Given the description of an element on the screen output the (x, y) to click on. 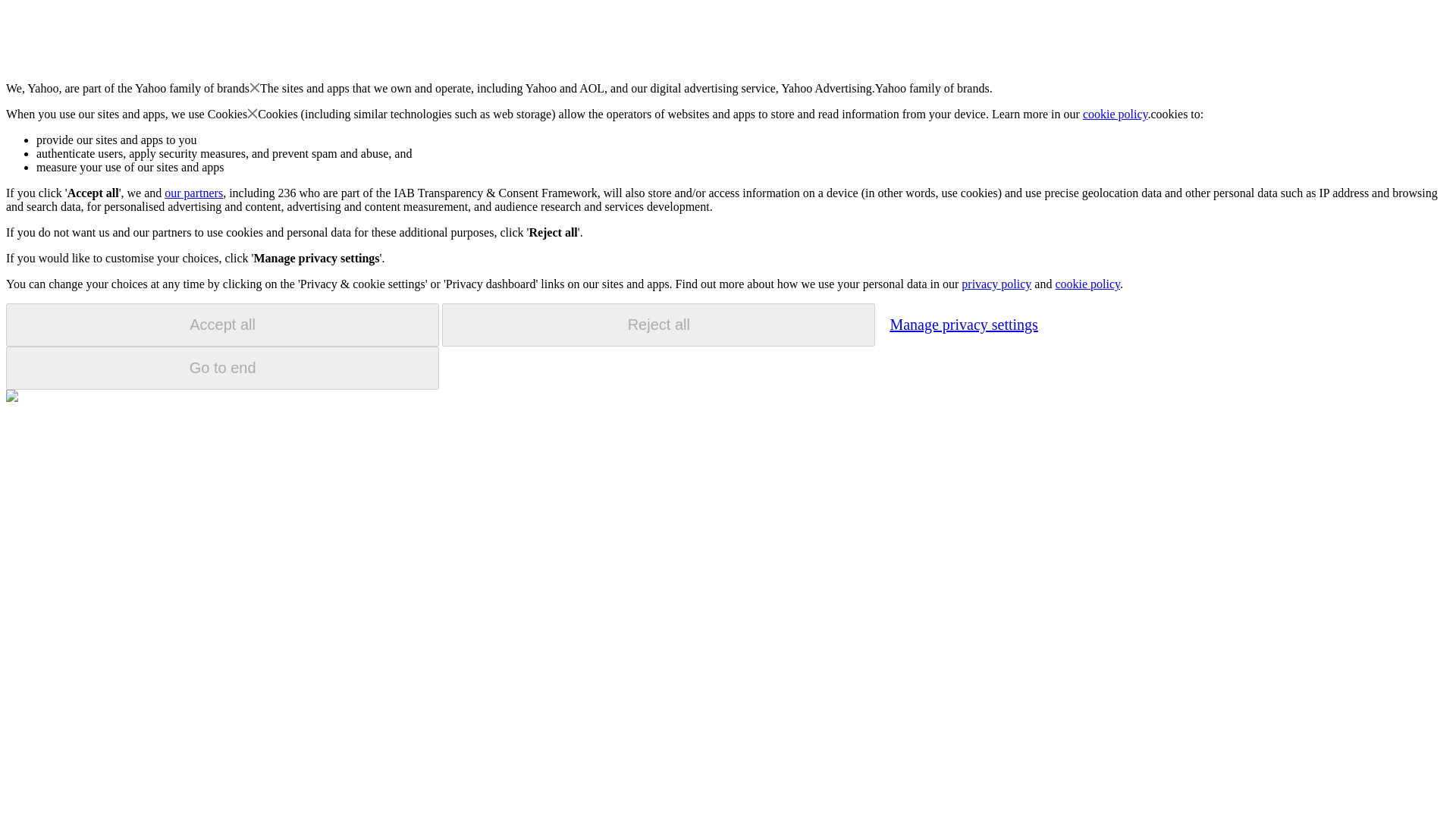
privacy policy (995, 283)
Reject all (658, 324)
cookie policy (1115, 113)
cookie policy (1086, 283)
Go to end (222, 367)
our partners (193, 192)
Manage privacy settings (963, 323)
Accept all (222, 324)
